Given the description of an element on the screen output the (x, y) to click on. 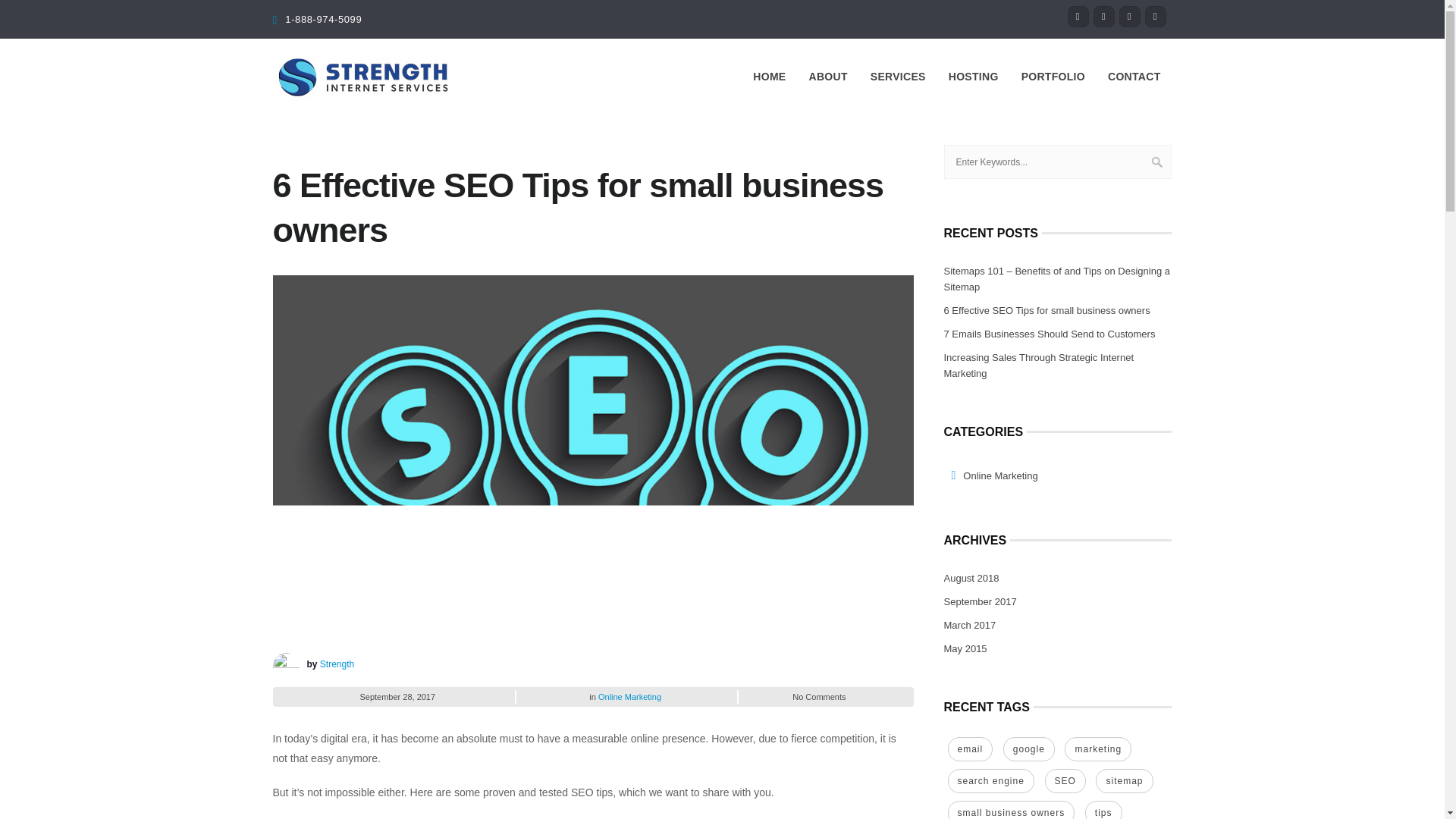
Posts by Strength (336, 664)
HOSTING (973, 76)
PORTFOLIO (1053, 76)
CONTACT (1134, 76)
Online Marketing (629, 696)
SERVICES (898, 76)
1-888-974-5099 (323, 19)
Strength (336, 664)
